Given the description of an element on the screen output the (x, y) to click on. 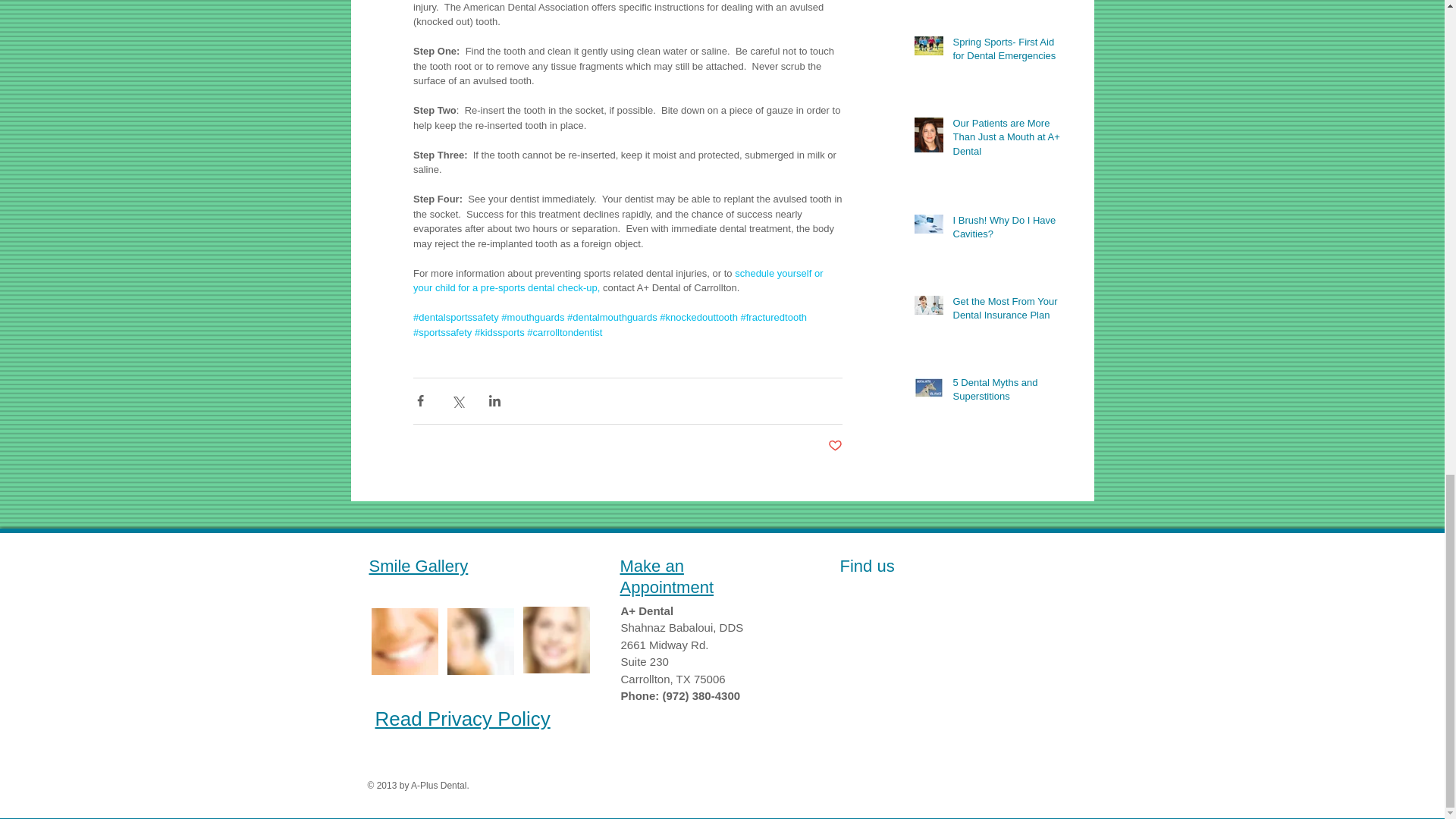
Post not marked as liked (835, 446)
